Given the description of an element on the screen output the (x, y) to click on. 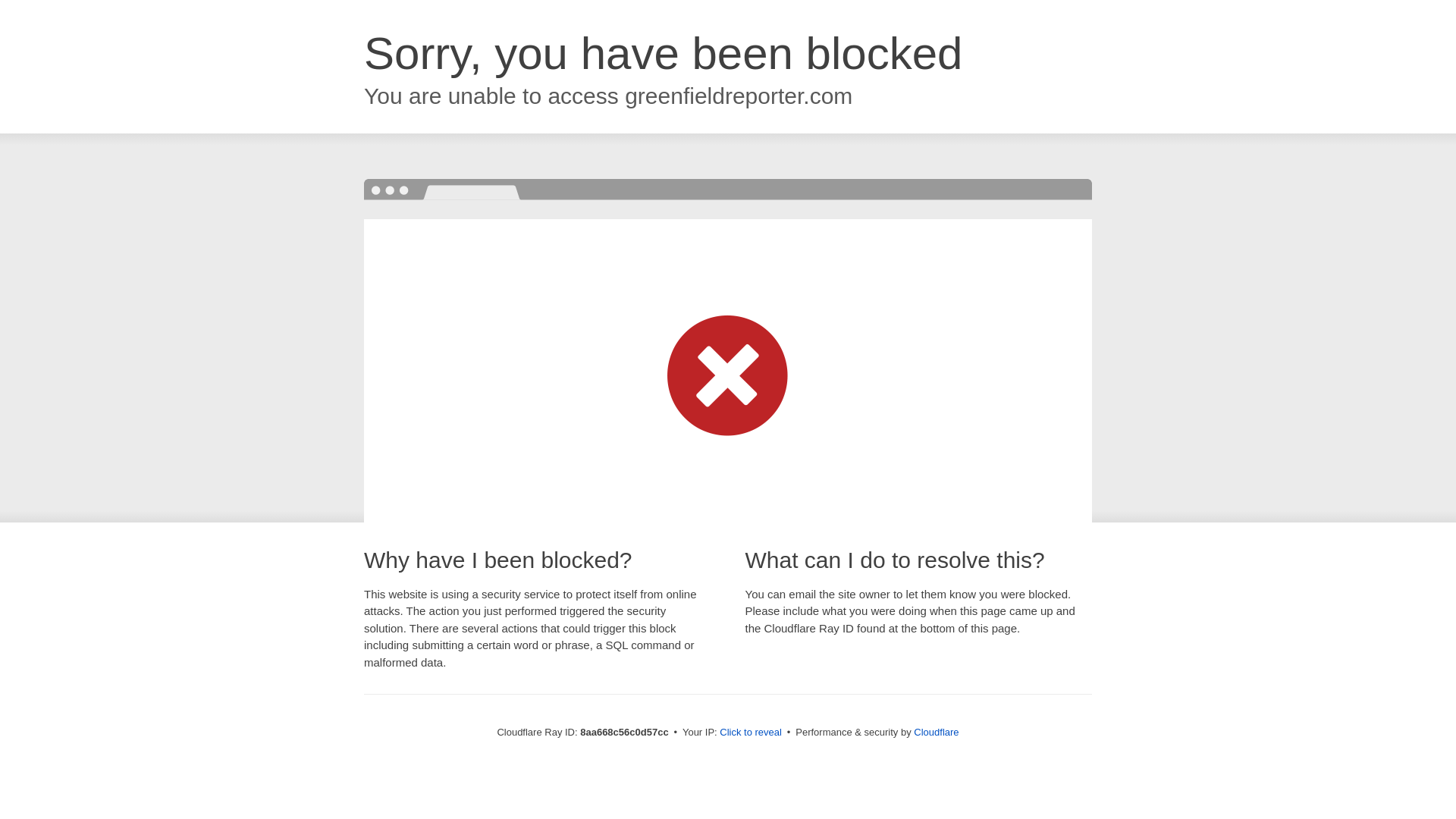
Click to reveal (750, 732)
Cloudflare (936, 731)
